Given the description of an element on the screen output the (x, y) to click on. 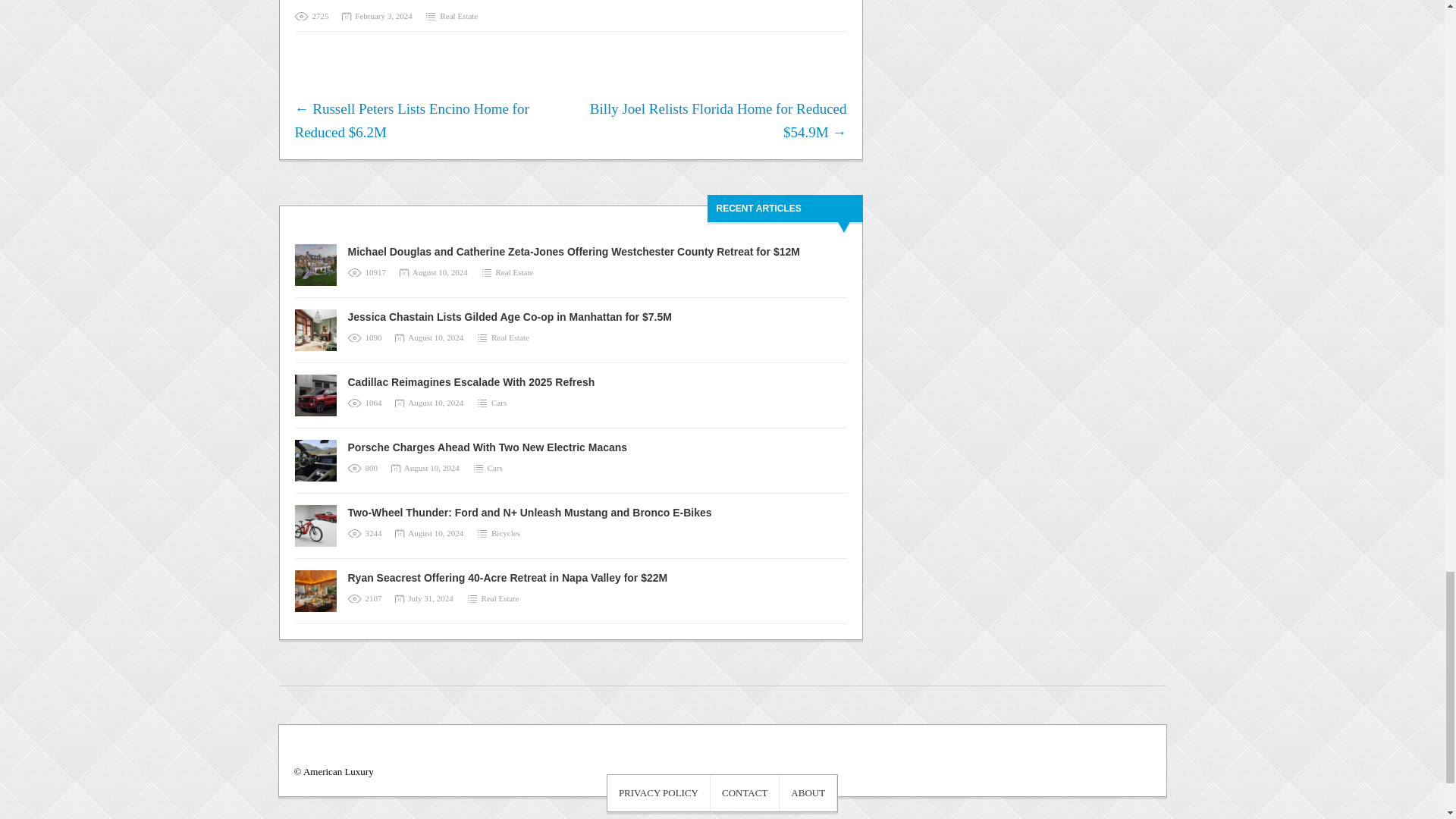
Category (507, 271)
Real Estate (515, 271)
Date (377, 15)
Category (503, 337)
Permalink to Cadillac Reimagines Escalade With 2025 Refresh (320, 399)
Category (451, 15)
Views (367, 271)
Real Estate (510, 337)
Permalink to Cadillac Reimagines Escalade With 2025 Refresh (470, 381)
Views (365, 337)
